Given the description of an element on the screen output the (x, y) to click on. 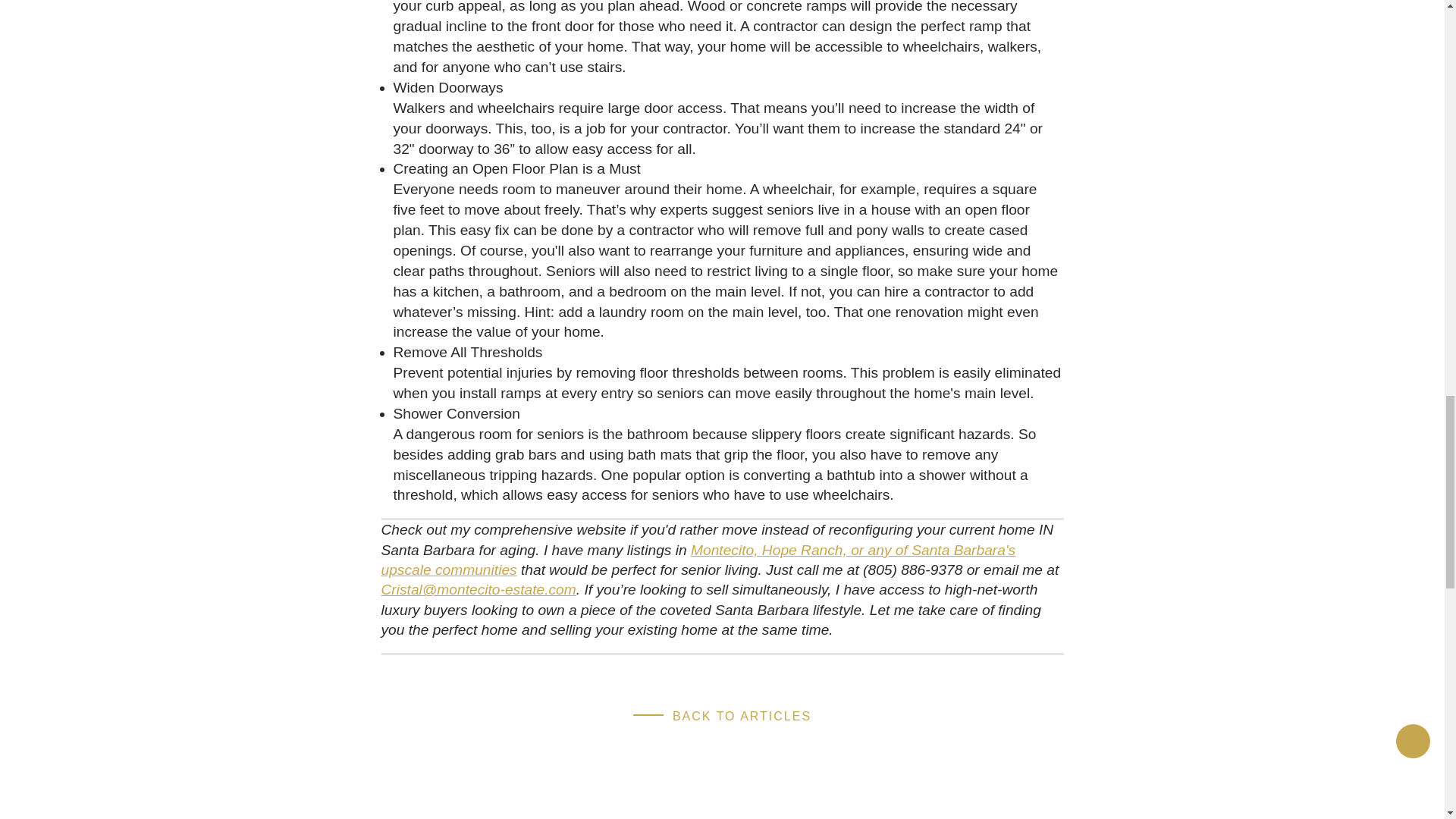
BACK TO ARTICLES (721, 716)
